Given the description of an element on the screen output the (x, y) to click on. 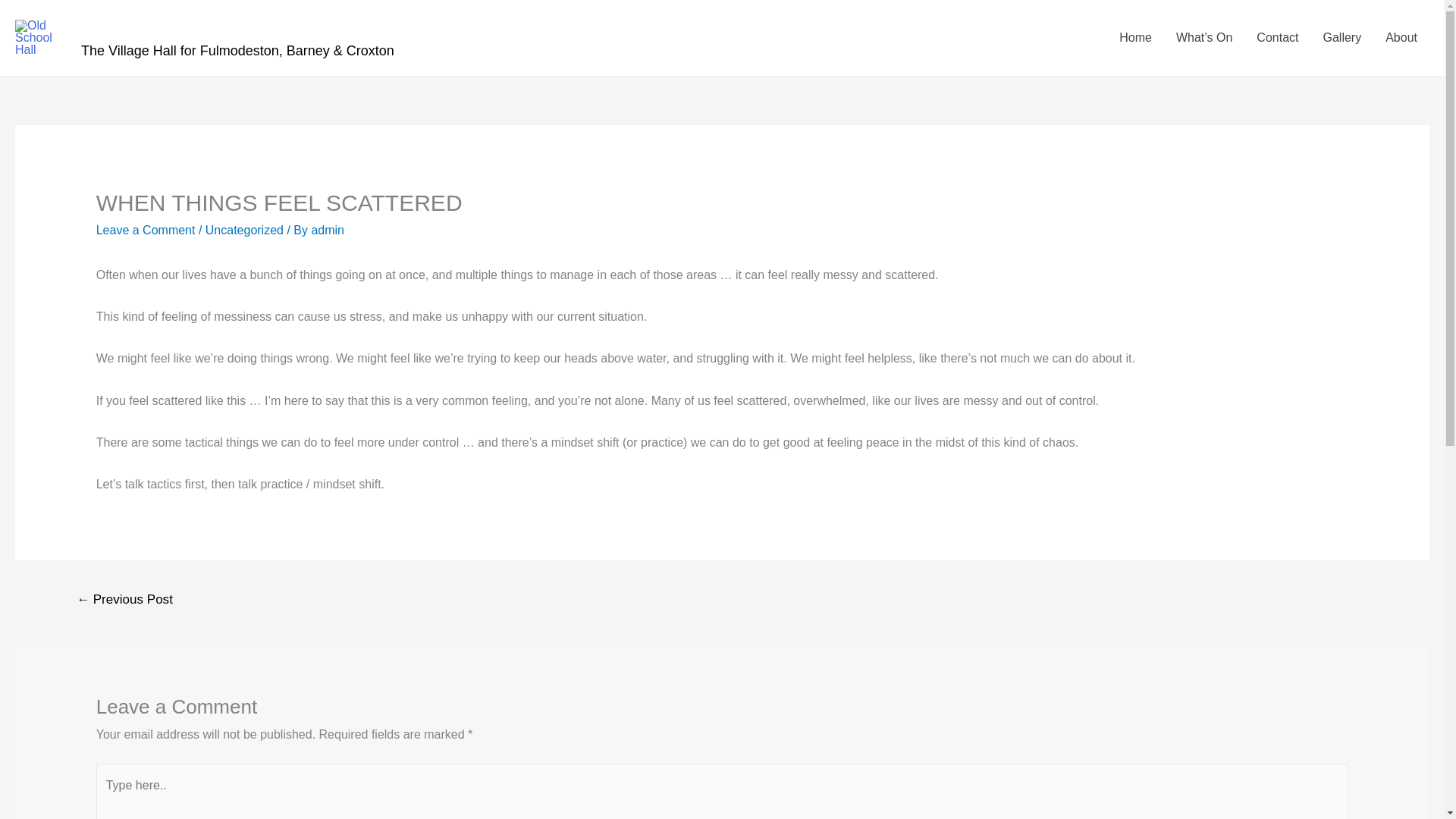
Old School Hall (162, 27)
Uncategorized (244, 229)
View all posts by admin (327, 229)
admin (327, 229)
Leave a Comment (145, 229)
